Given the description of an element on the screen output the (x, y) to click on. 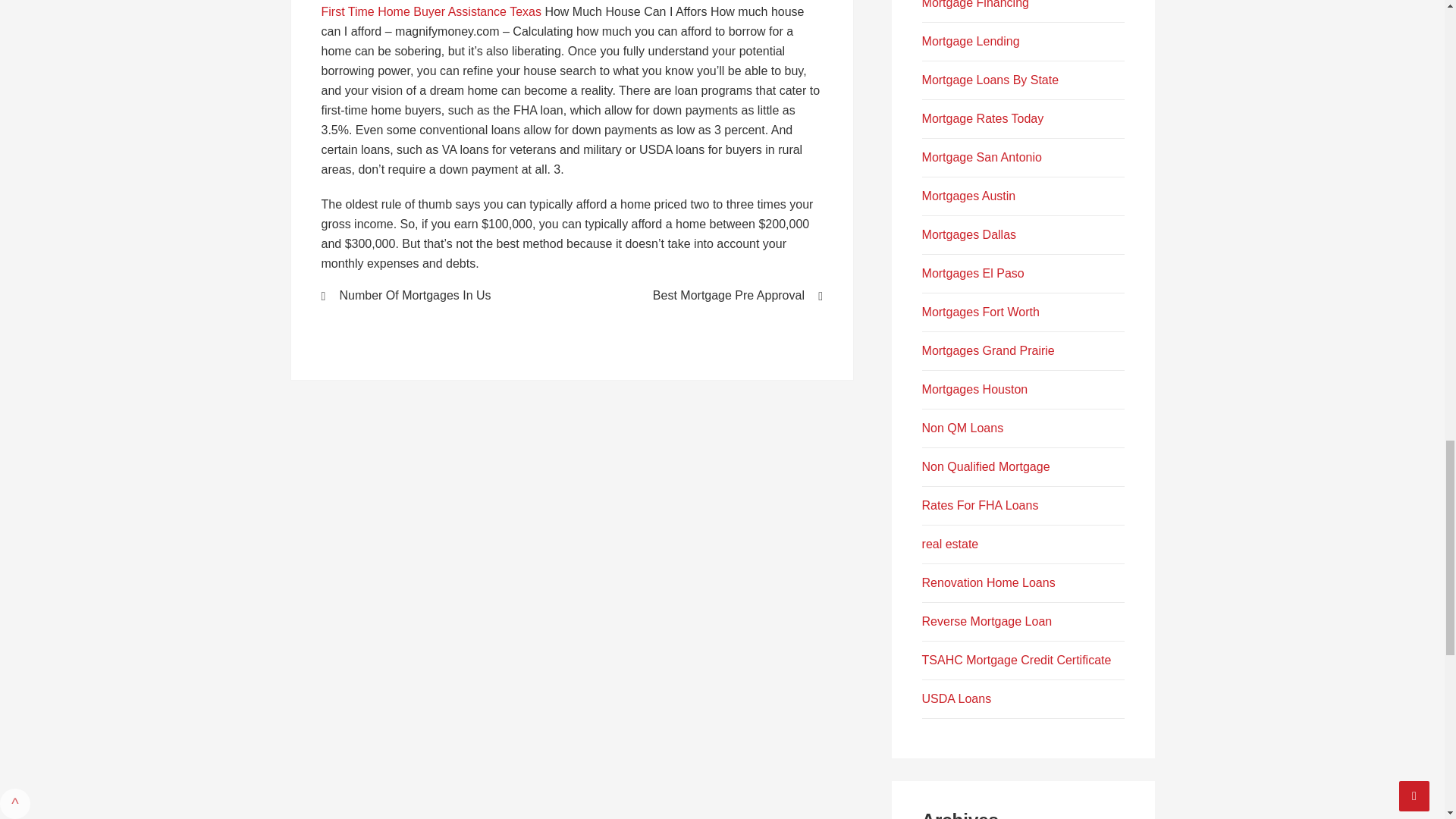
Number Of Mortgages In Us (436, 295)
First Time Home Buyer Assistance Texas (431, 11)
Best Mortgage Pre Approval (707, 295)
